Given the description of an element on the screen output the (x, y) to click on. 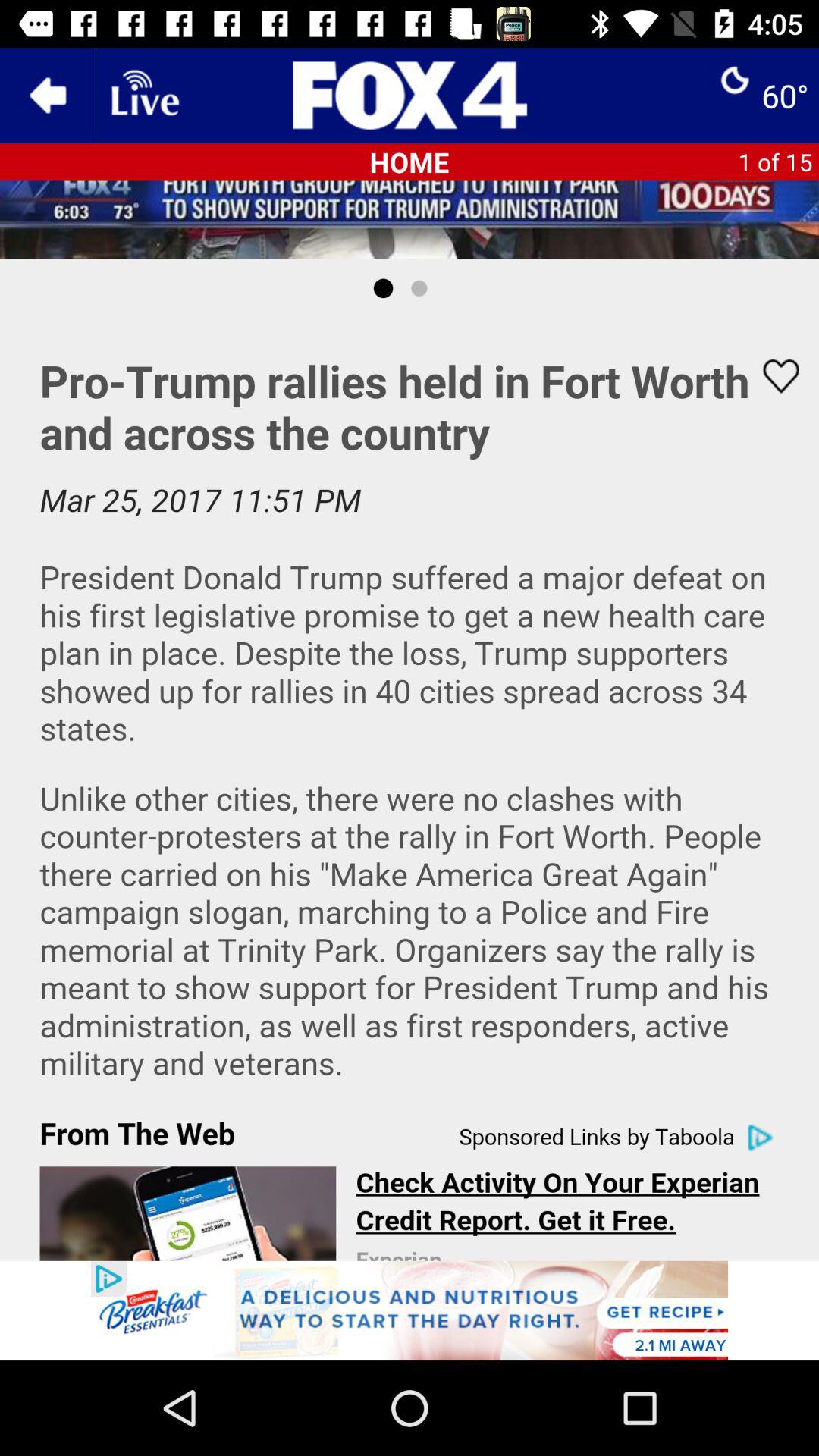
like (771, 375)
